Given the description of an element on the screen output the (x, y) to click on. 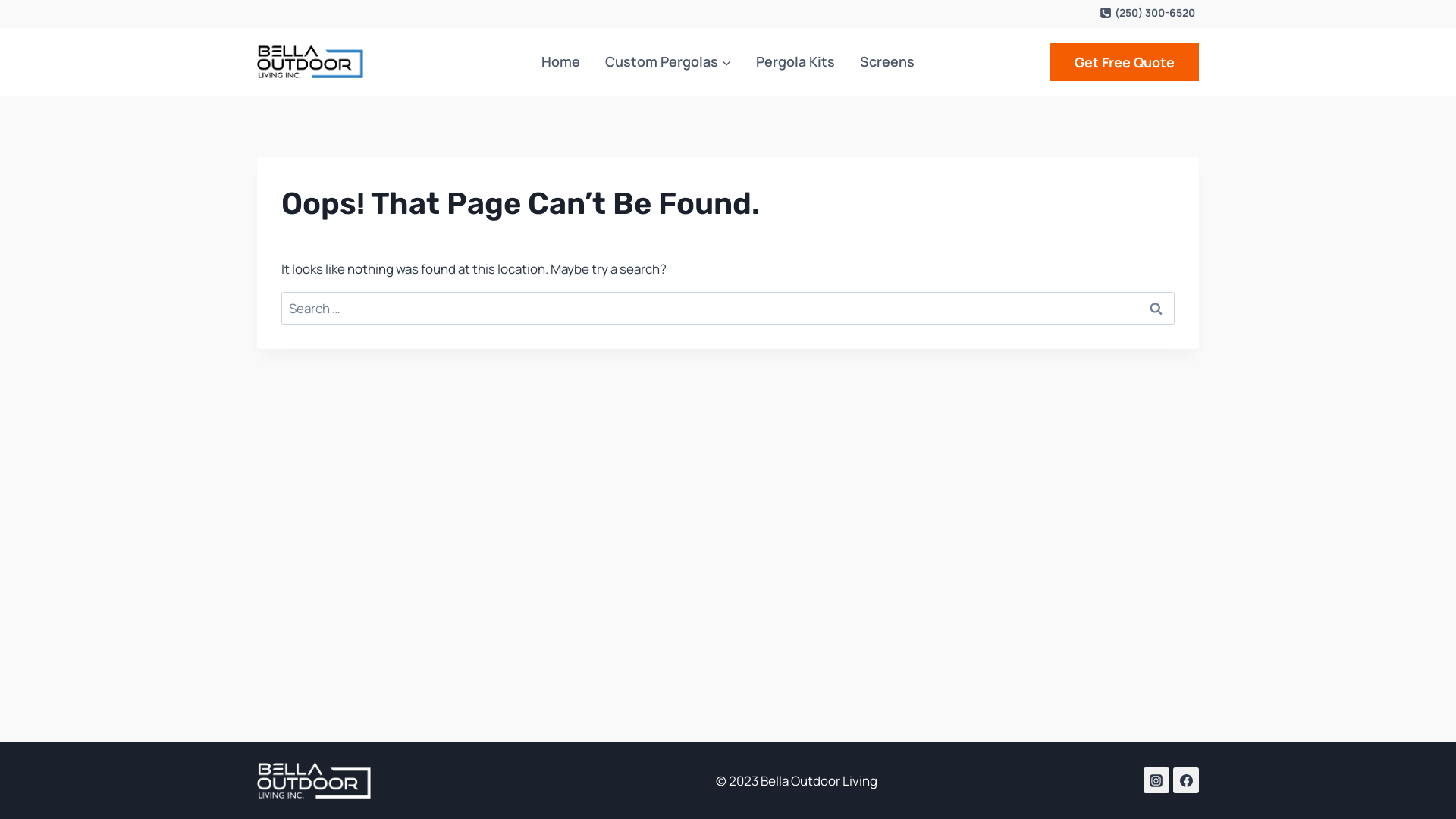
Home Element type: text (560, 61)
Custom Pergolas Element type: text (668, 61)
(250) 300-6520 Element type: text (1147, 12)
Get Free Quote Element type: text (1124, 62)
Pergola Kits Element type: text (795, 61)
Screens Element type: text (886, 61)
Search Element type: text (1155, 307)
